Given the description of an element on the screen output the (x, y) to click on. 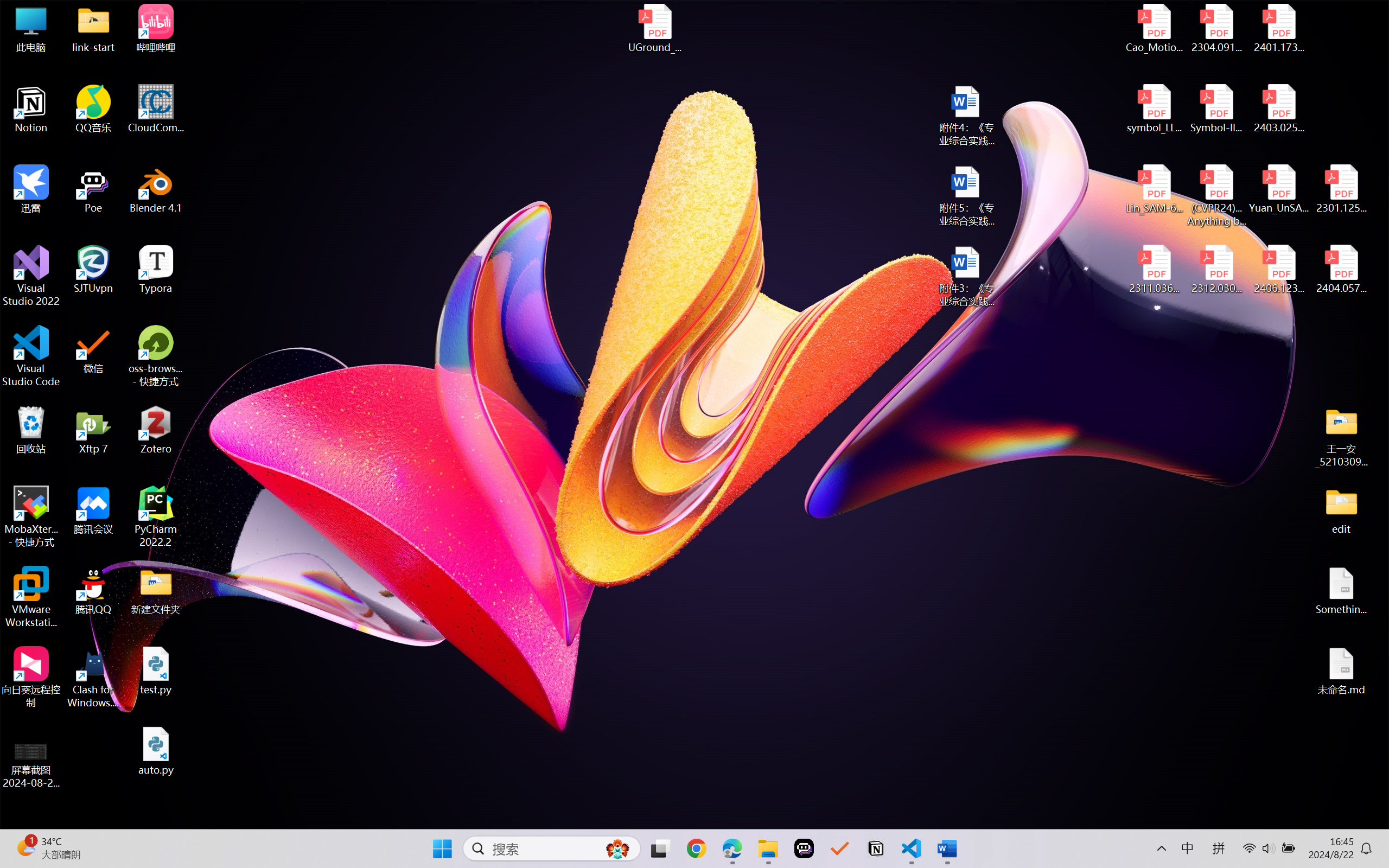
(CVPR24)Matching Anything by Segmenting Anything.pdf (1216, 195)
UGround_paper.pdf (654, 28)
2404.05719v1.pdf (1340, 269)
auto.py (156, 751)
